Given the description of an element on the screen output the (x, y) to click on. 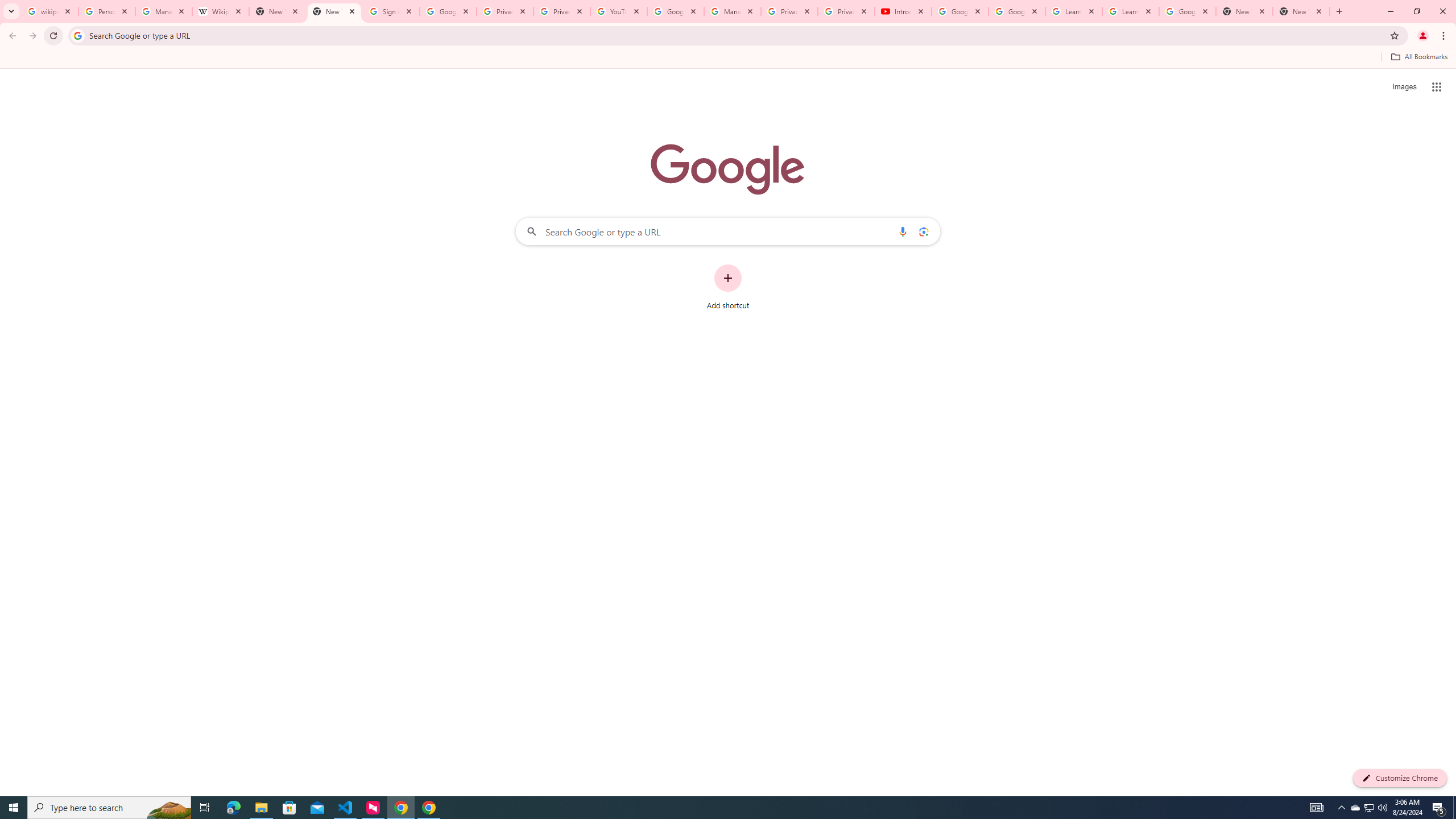
Google Account Help (1015, 11)
Search for Images  (1403, 87)
New Tab (334, 11)
New Tab (1301, 11)
Search icon (77, 35)
